Given the description of an element on the screen output the (x, y) to click on. 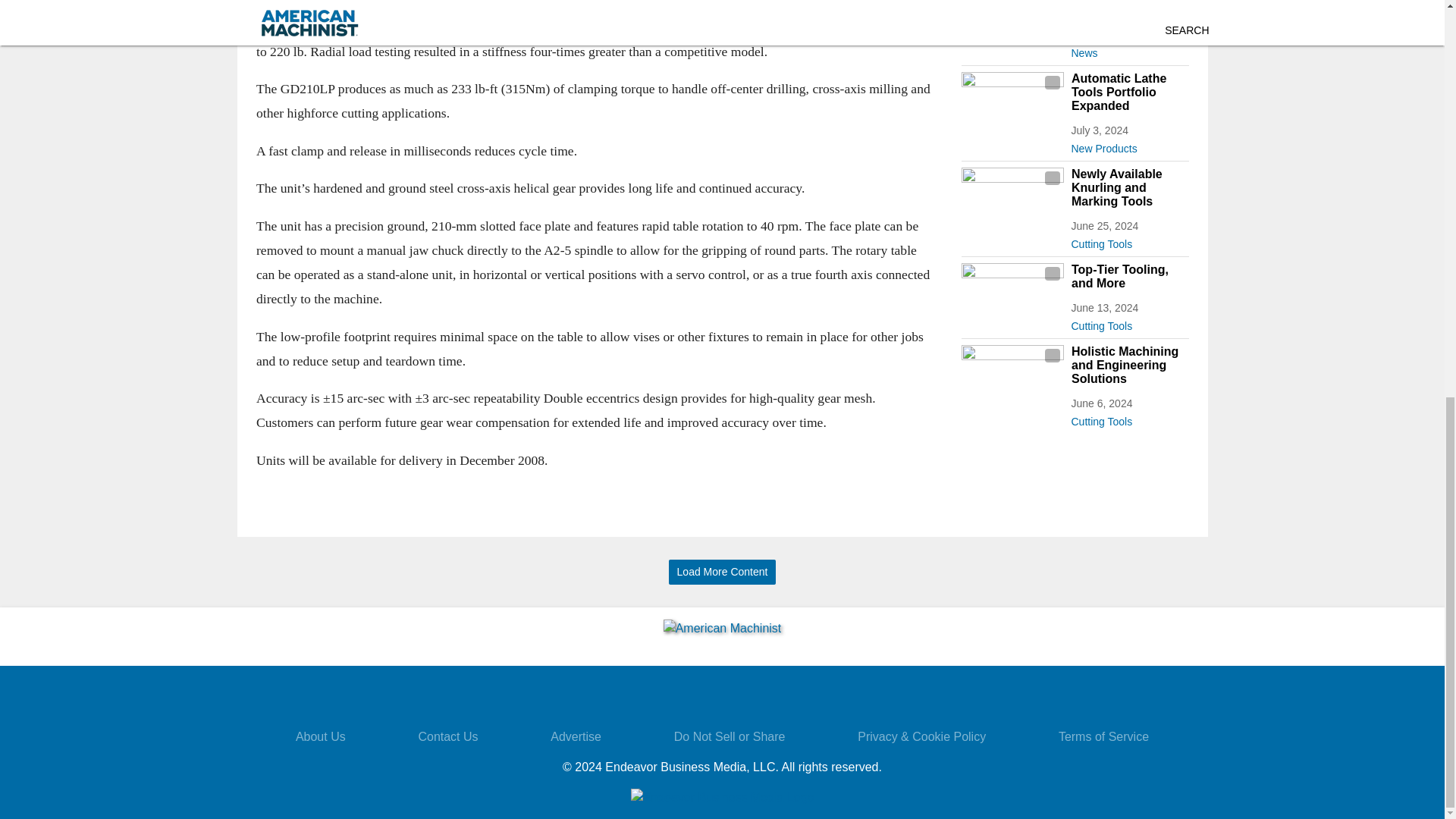
Holistic Machining and Engineering Solutions (1129, 364)
Do Not Sell or Share (730, 736)
Advertise (575, 736)
Terms of Service (1103, 736)
News (1129, 49)
Load More Content (722, 571)
Cutting Tools (1129, 418)
Automatic Lathe Tools Portfolio Expanded (1129, 92)
About Us (320, 736)
Top-Tier Tooling, and More (1129, 276)
Newly Available Knurling and Marking Tools (1129, 187)
Cutting Tools (1129, 322)
Contact Us (447, 736)
Cutting Tools (1129, 240)
New Products (1129, 145)
